Given the description of an element on the screen output the (x, y) to click on. 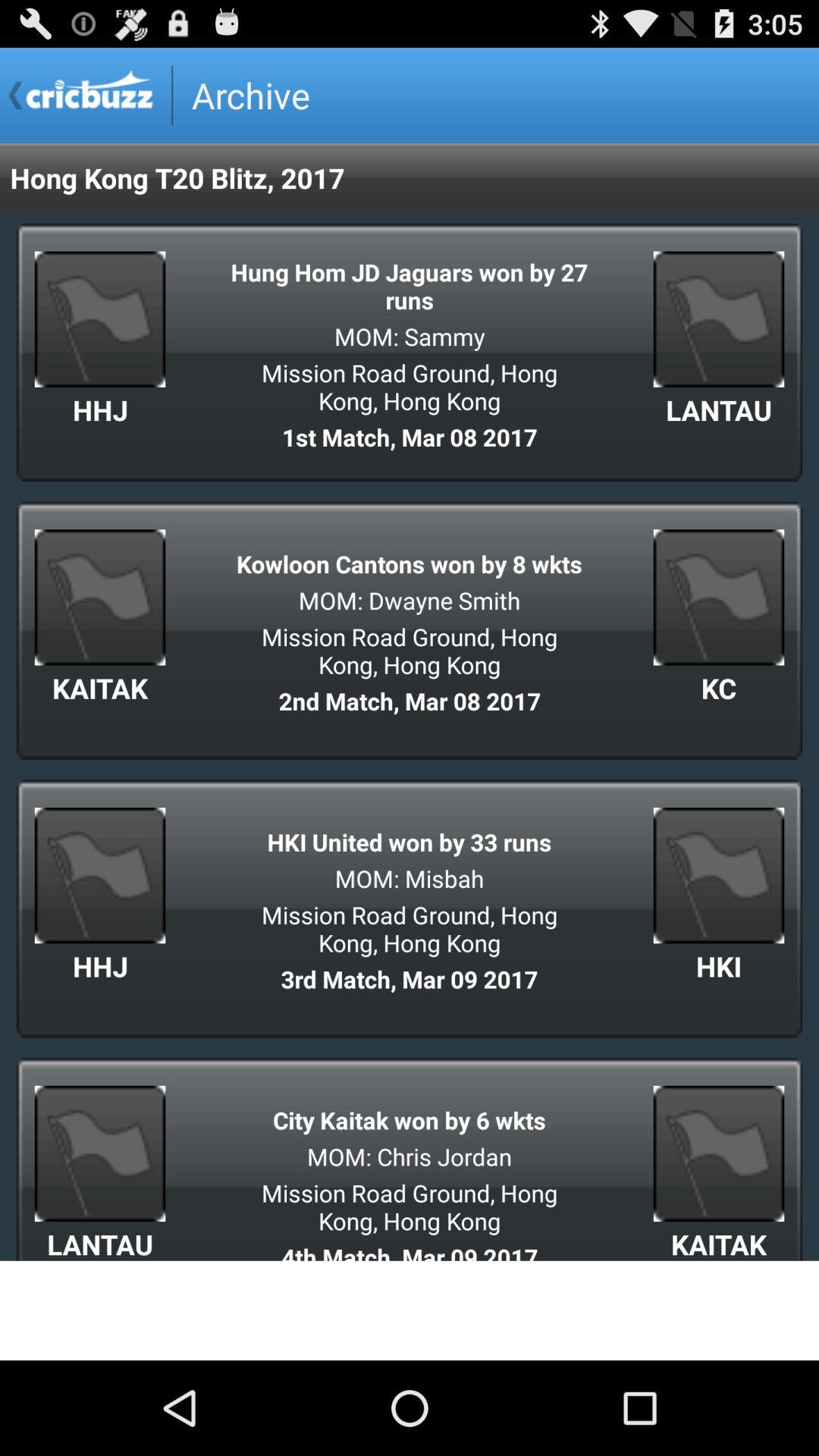
choose item below lantau item (409, 1310)
